Given the description of an element on the screen output the (x, y) to click on. 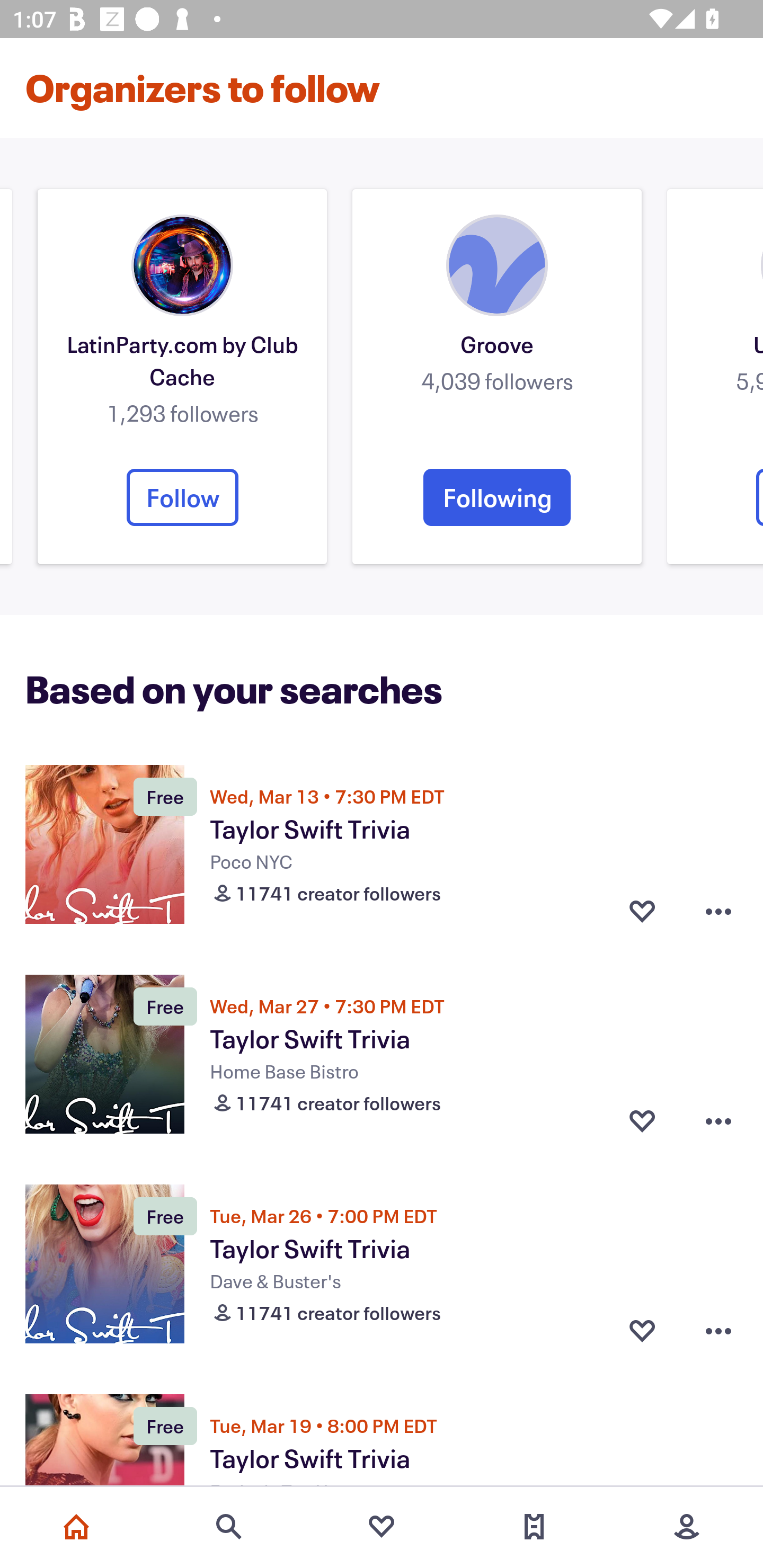
Follow Organizer's follow button (182, 496)
Following Organizer's follow button (496, 496)
Follow Organizer's follow button (759, 496)
Favorite button (642, 910)
Overflow menu button (718, 910)
Favorite button (642, 1120)
Overflow menu button (718, 1120)
Favorite button (642, 1330)
Overflow menu button (718, 1330)
Home (76, 1526)
Search events (228, 1526)
Favorites (381, 1526)
Tickets (533, 1526)
More (686, 1526)
